Given the description of an element on the screen output the (x, y) to click on. 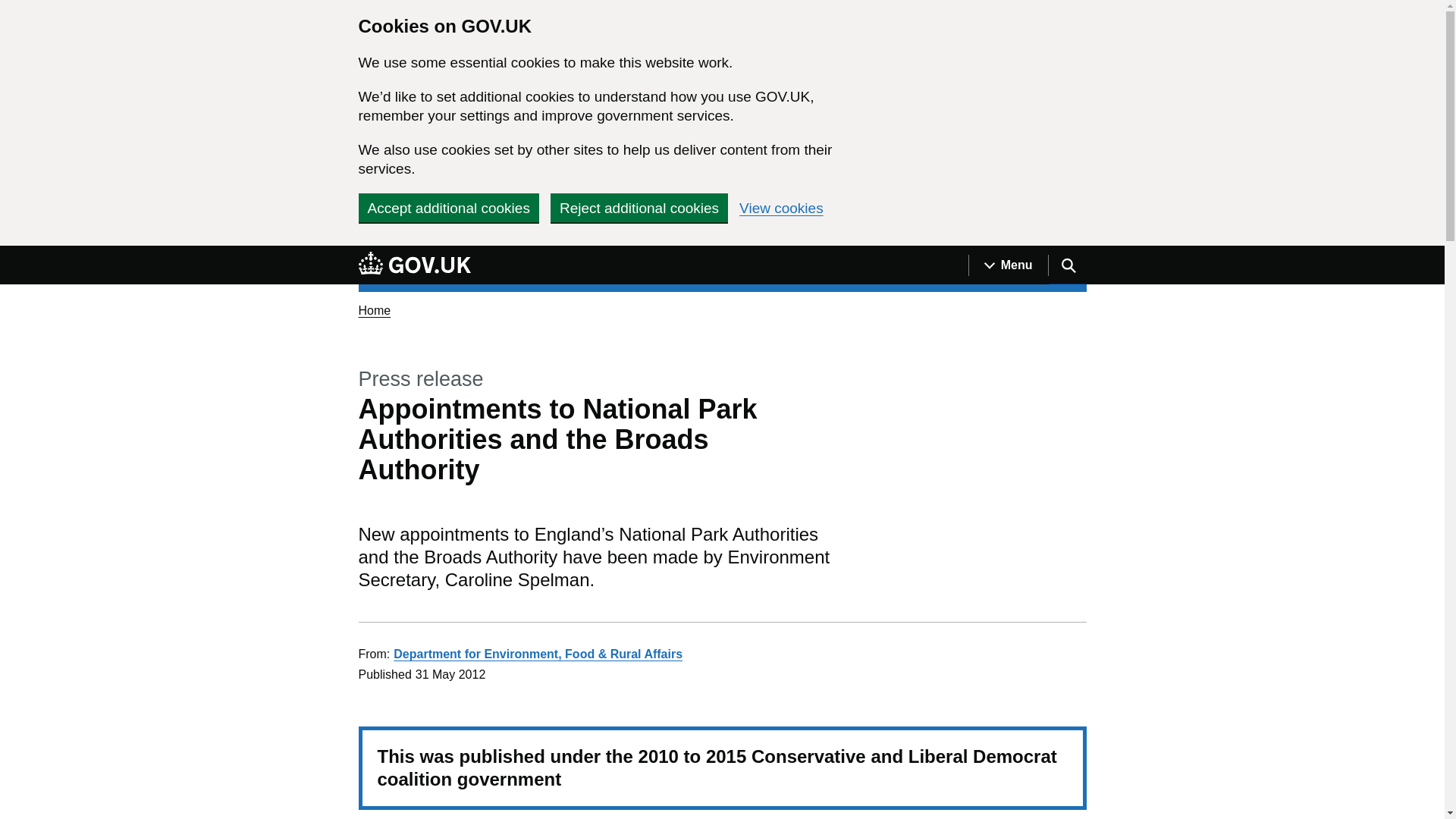
Reject additional cookies (639, 207)
Accept additional cookies (448, 207)
Home (374, 309)
GOV.UK (414, 262)
Search GOV.UK (1067, 265)
Skip to main content (11, 254)
Menu (1008, 265)
View cookies (781, 207)
GOV.UK (414, 264)
